Given the description of an element on the screen output the (x, y) to click on. 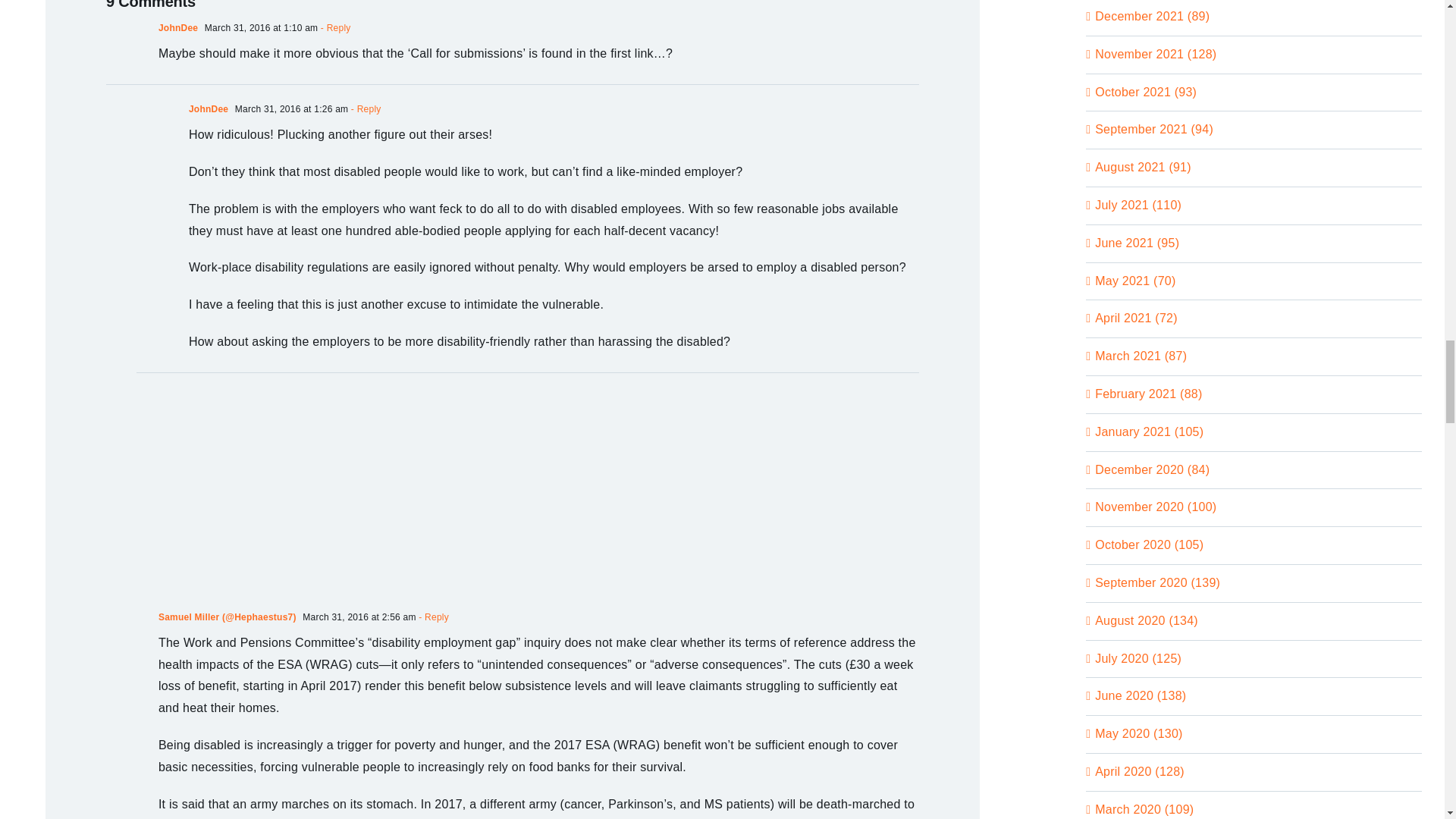
- Reply (363, 109)
- Reply (333, 27)
JohnDee (208, 109)
- Reply (432, 616)
JohnDee (178, 27)
